Given the description of an element on the screen output the (x, y) to click on. 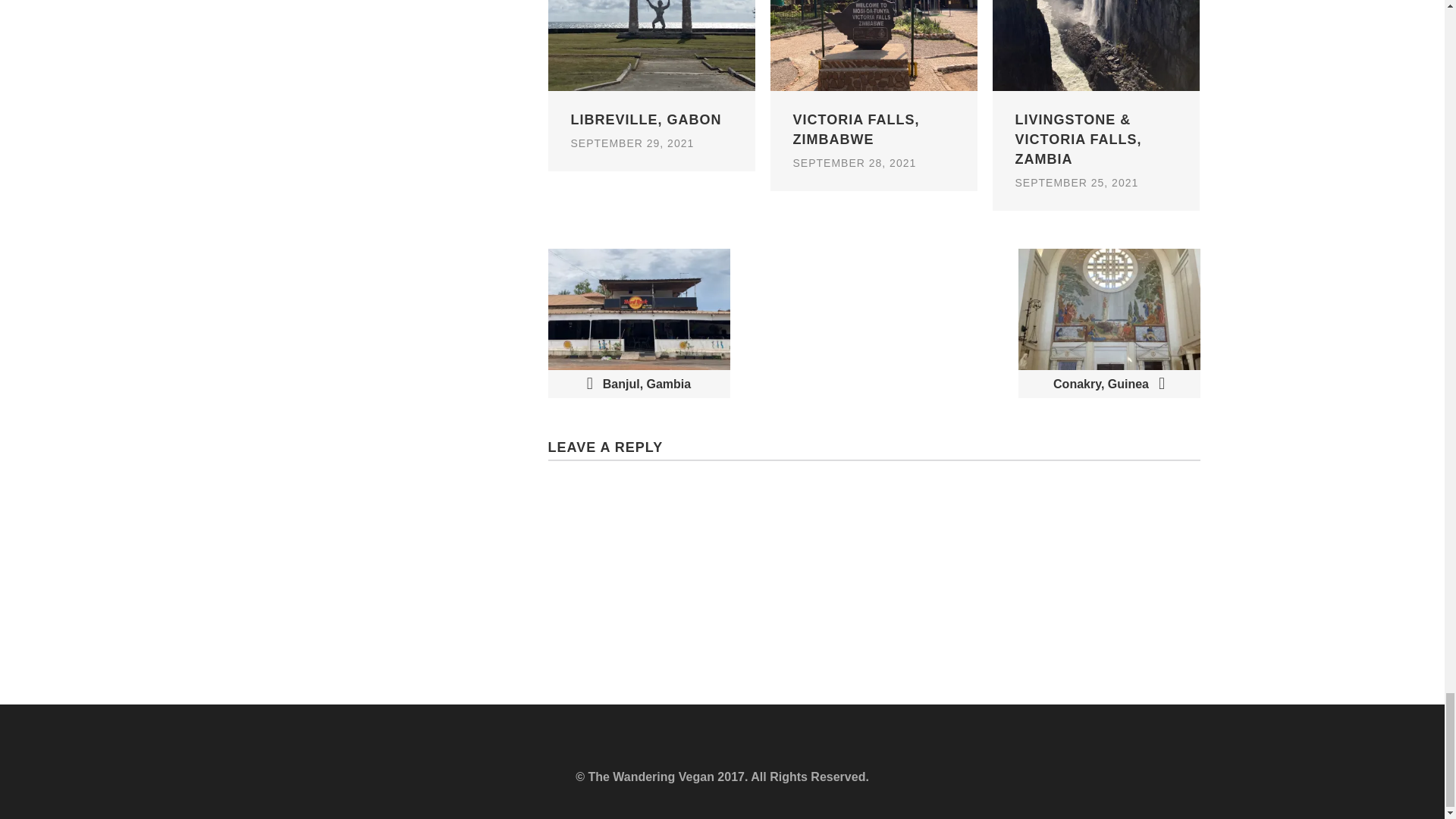
Conakry, Guinea   (1108, 323)
LIBREVILLE, GABON (651, 129)
VICTORIA FALLS, ZIMBABWE (874, 138)
  Banjul, Gambia (638, 323)
